Given the description of an element on the screen output the (x, y) to click on. 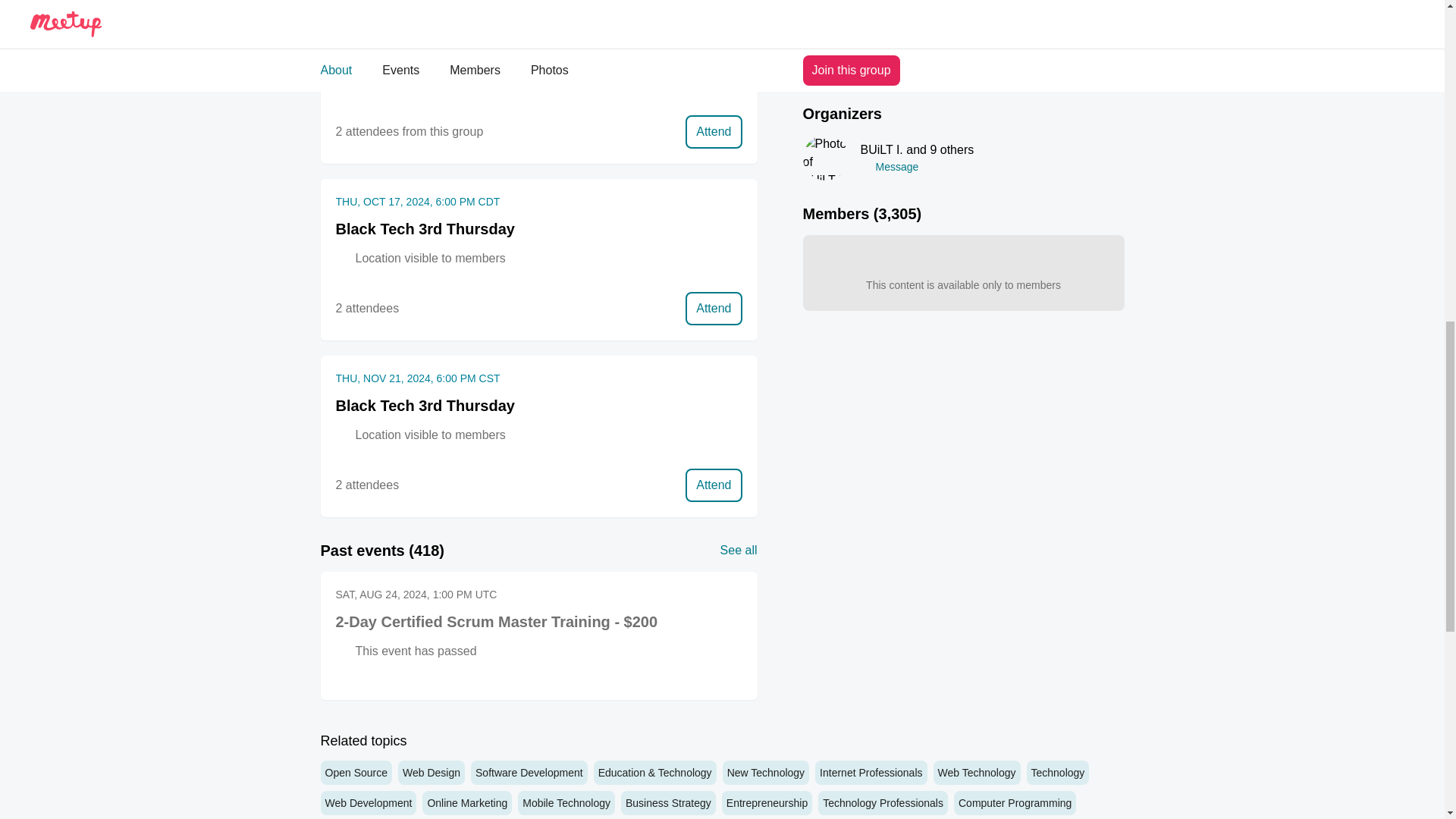
Open Source (355, 772)
Software Development (529, 772)
Attend (713, 308)
Attend (713, 485)
Attend (713, 131)
Web Design (430, 772)
See all (738, 550)
